Given the description of an element on the screen output the (x, y) to click on. 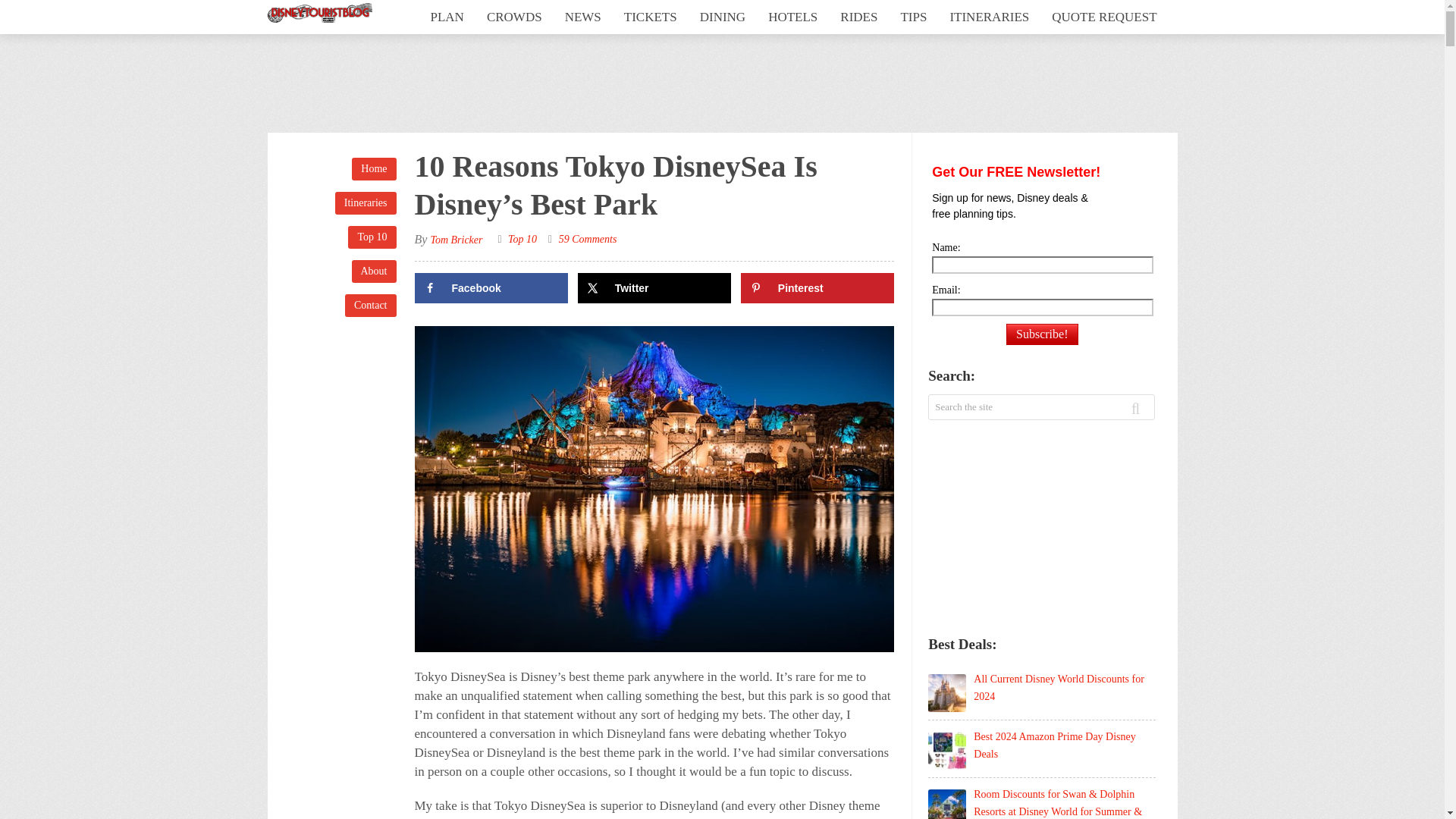
Posts by Tom Bricker (455, 239)
RIDES (858, 17)
59 Comments (588, 238)
TIPS (912, 17)
Search the site (996, 406)
DINING (722, 17)
About (374, 271)
Top 10 (371, 237)
QUOTE REQUEST (1104, 17)
TICKETS (650, 17)
